Given the description of an element on the screen output the (x, y) to click on. 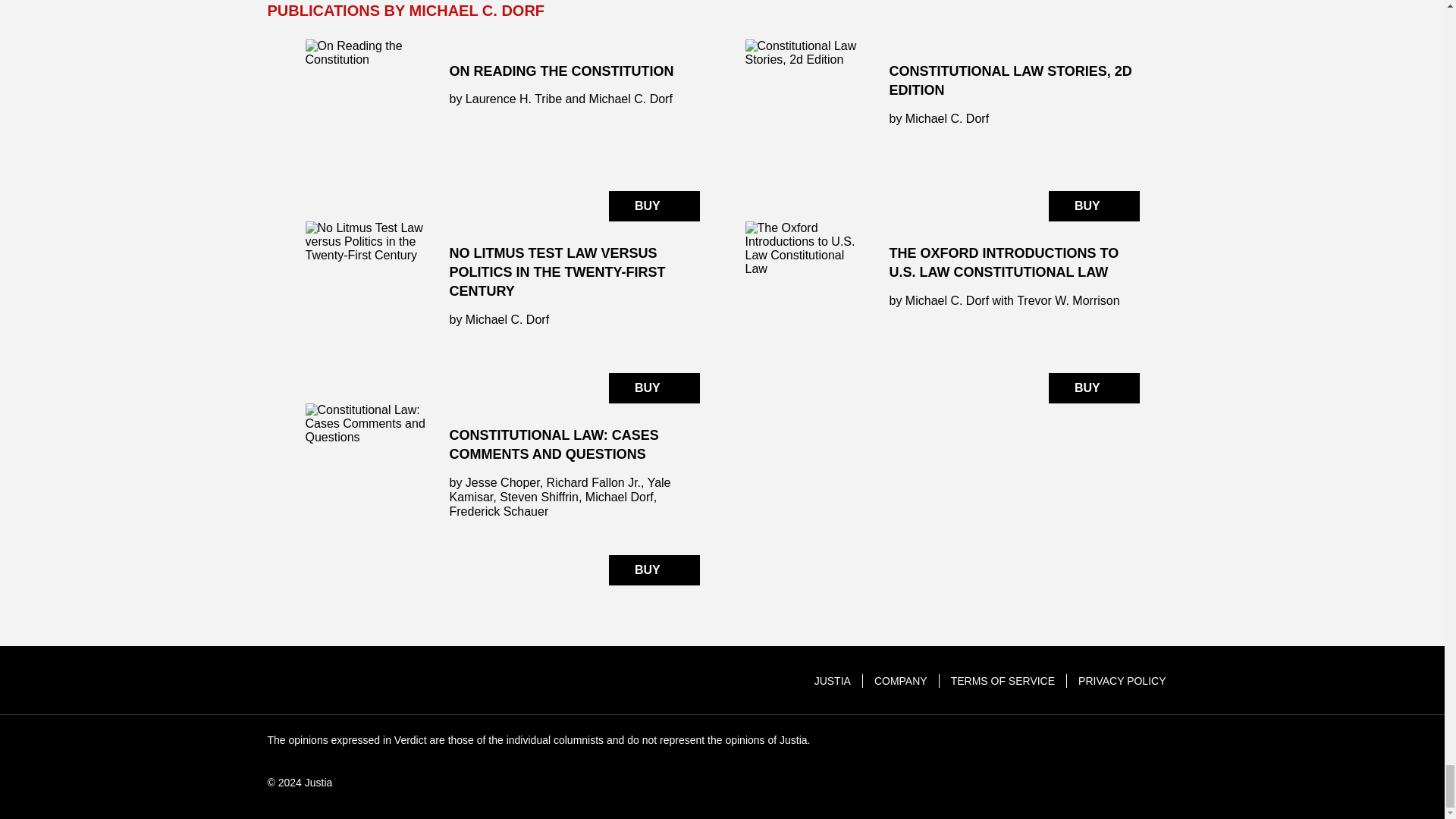
Constitutional Law: Cases Comments and Questions (501, 494)
The Oxford Introductions to U.S. Law Constitutional Law (805, 312)
Constitutional Law Stories, 2d Edition (941, 130)
On Reading the Constitution (501, 130)
The Oxford Introductions to U.S. Law Constitutional Law (941, 312)
On Reading the Constitution (365, 130)
Constitutional Law Stories, 2d Edition (805, 130)
